Given the description of an element on the screen output the (x, y) to click on. 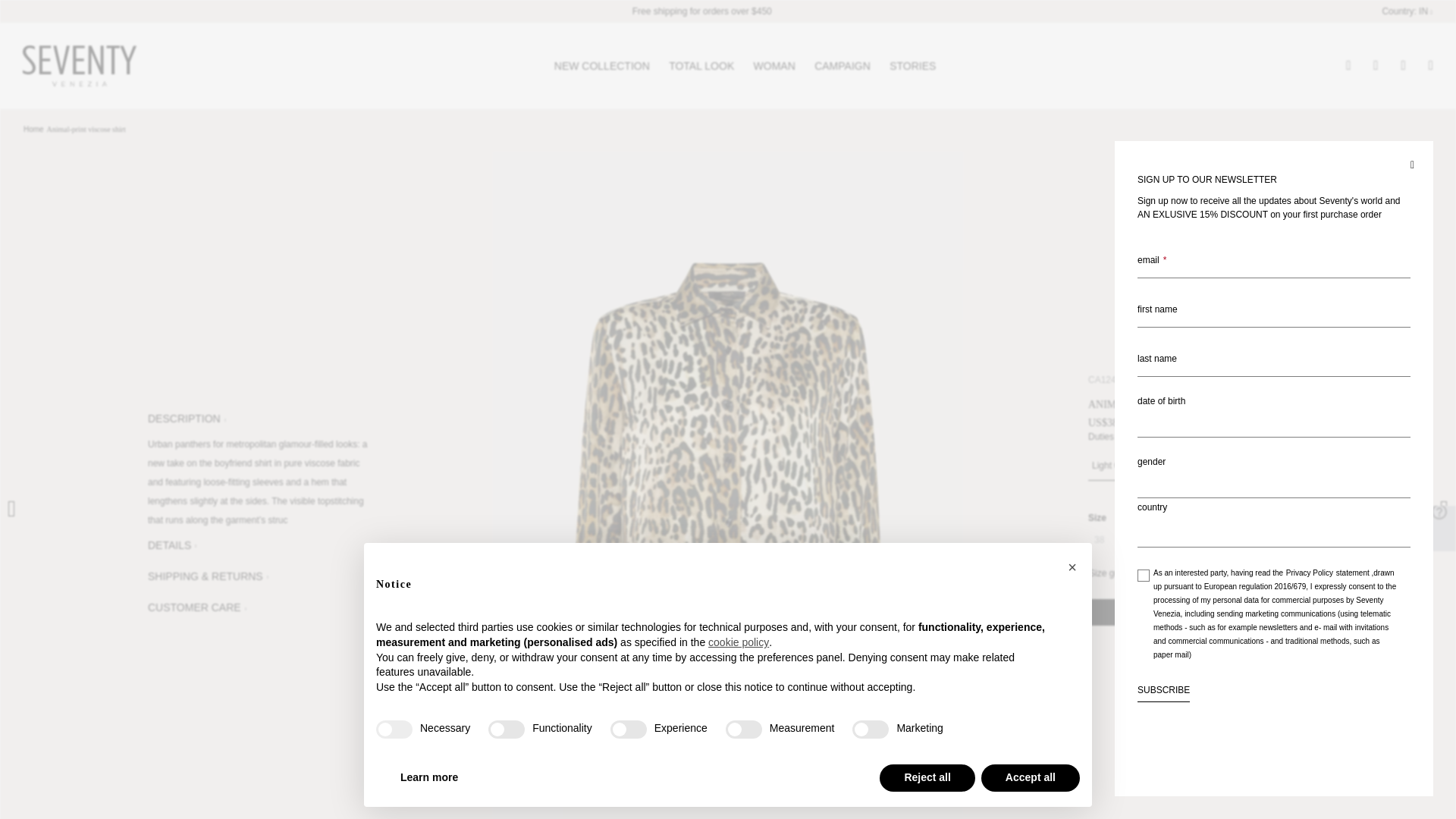
Add to Cart (1197, 611)
WOMAN (774, 65)
false (869, 729)
TOTAL LOOK (701, 65)
Reject all (926, 777)
cookie policy (737, 642)
true (393, 729)
false (628, 729)
Accept all (1030, 777)
false (505, 729)
on (1143, 575)
Seventy Venezia Official Store (79, 65)
CAMPAIGN (841, 65)
Learn more (428, 777)
Go to Home Page (34, 129)
